Given the description of an element on the screen output the (x, y) to click on. 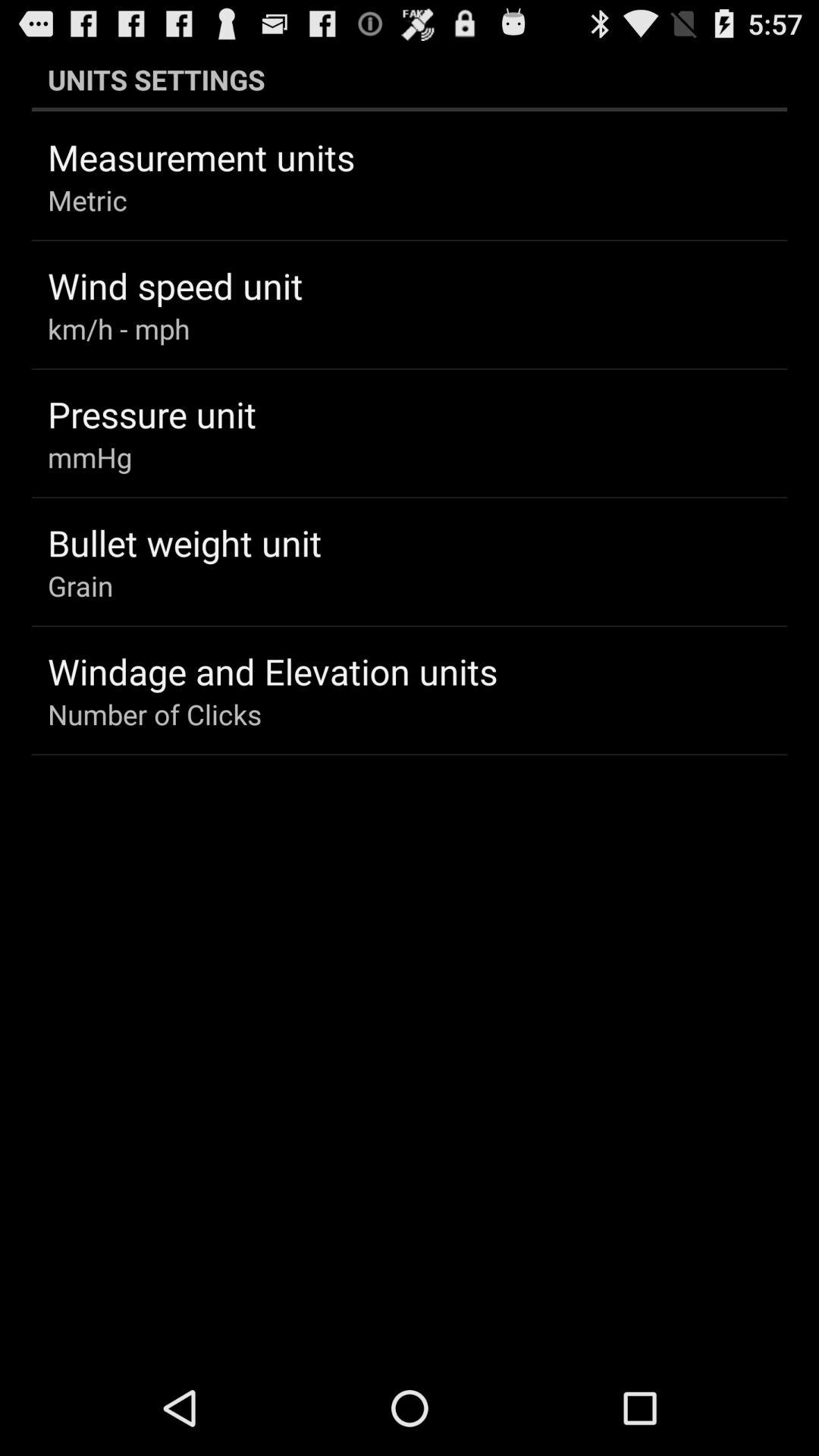
open number of clicks app (154, 714)
